Given the description of an element on the screen output the (x, y) to click on. 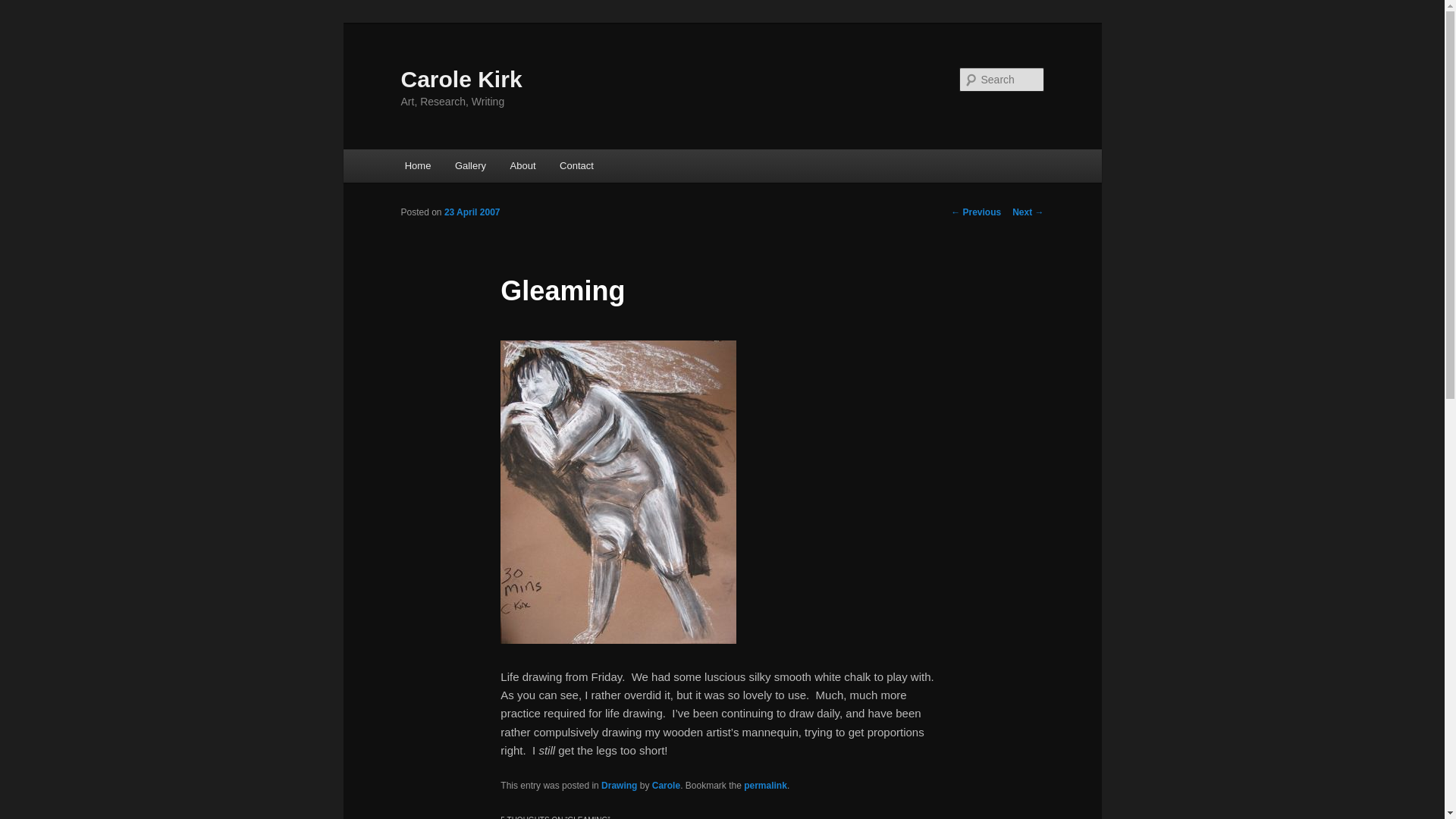
Carole Kirk (460, 78)
About (522, 165)
Carole (665, 785)
Drawing (619, 785)
9:31 pm (472, 212)
Search (24, 8)
23 April 2007 (472, 212)
permalink (765, 785)
Contact (576, 165)
Permalink to Gleaming (765, 785)
Home (417, 165)
Gallery (469, 165)
